Given the description of an element on the screen output the (x, y) to click on. 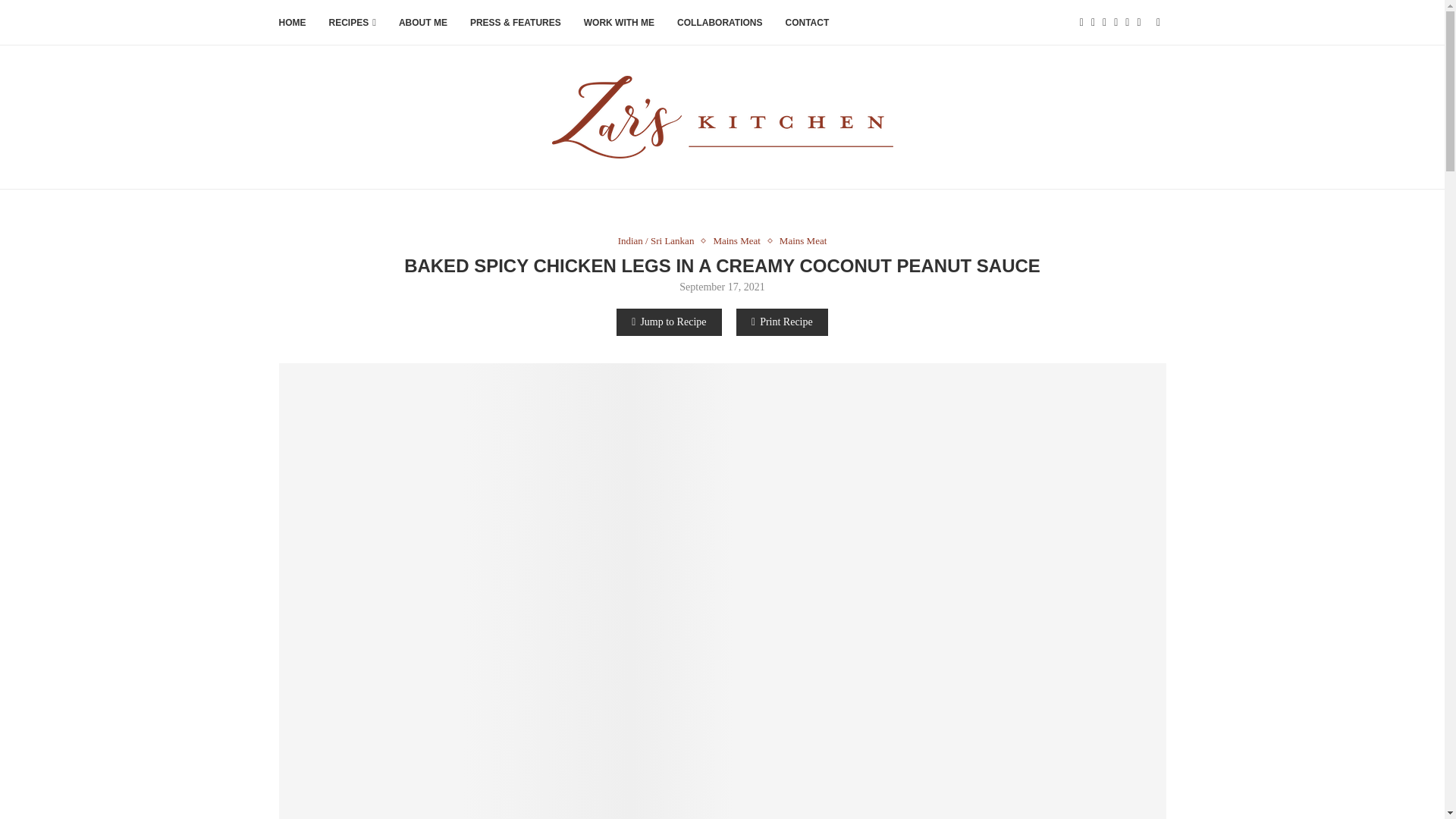
RECIPES (352, 22)
COLLABORATIONS (719, 22)
ABOUT ME (422, 22)
WORK WITH ME (618, 22)
CONTACT (807, 22)
